Given the description of an element on the screen output the (x, y) to click on. 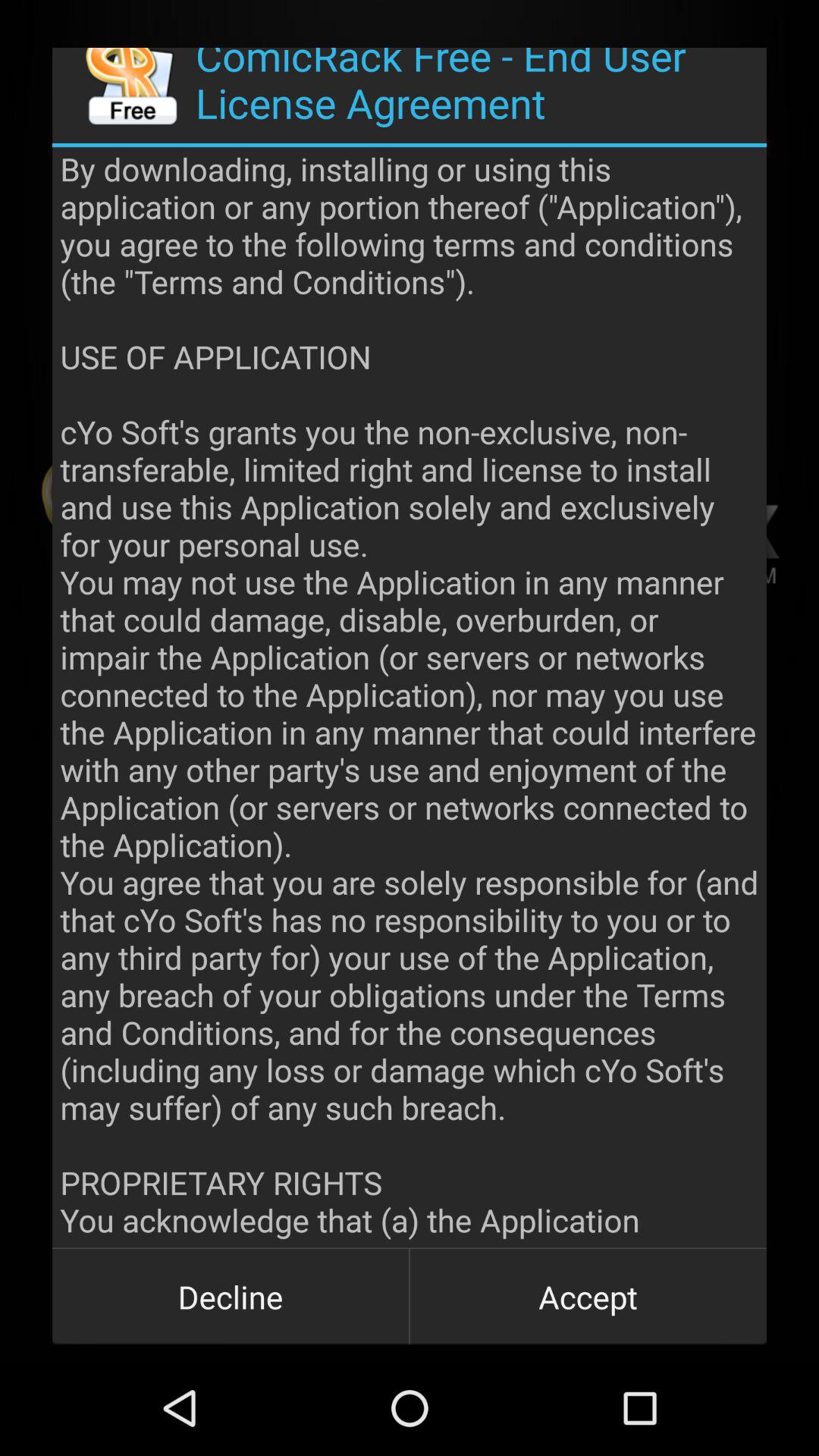
turn off item next to accept (230, 1296)
